Given the description of an element on the screen output the (x, y) to click on. 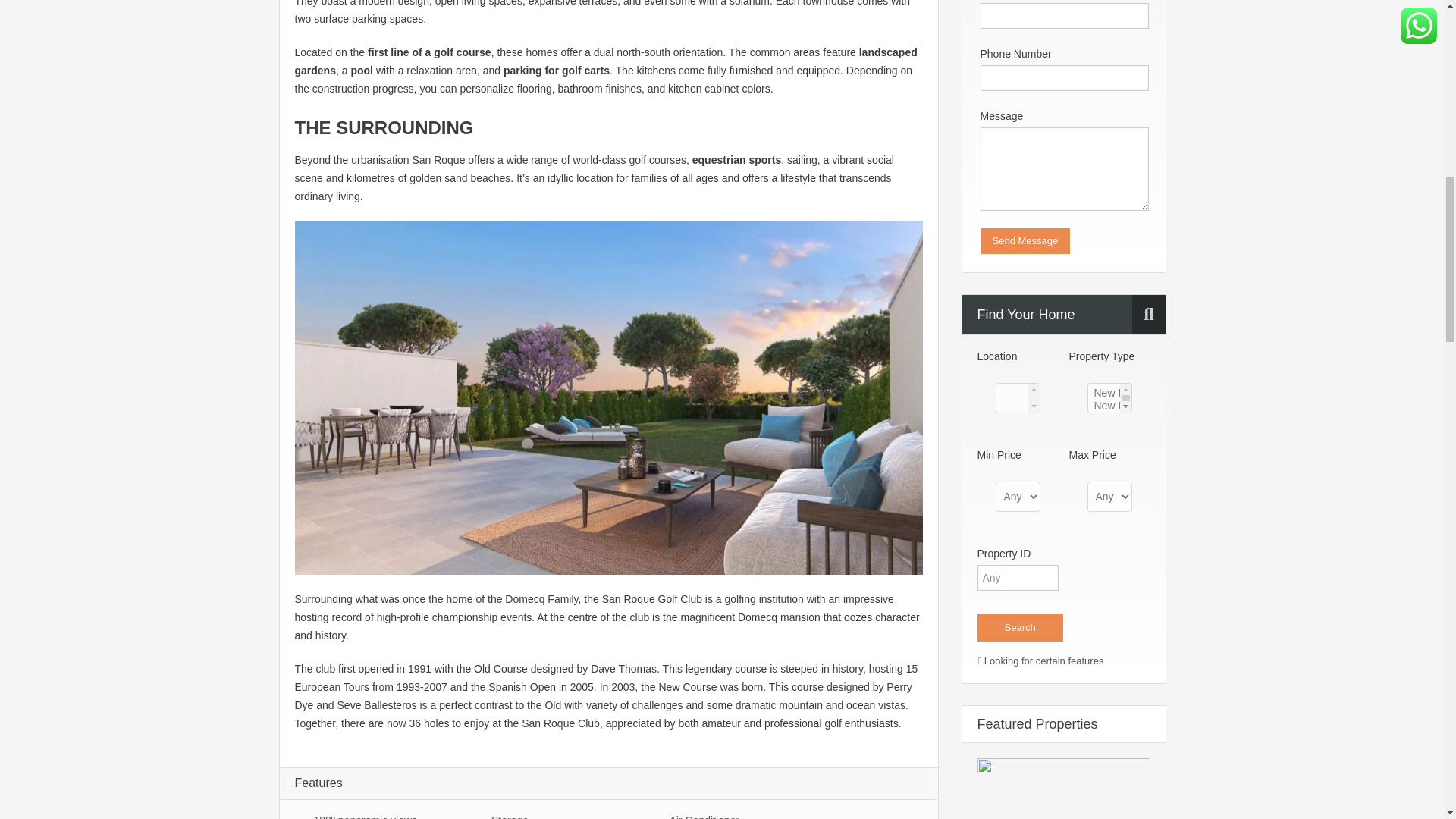
Send Message (1024, 240)
All Types (1109, 398)
Search (1019, 627)
All Locations (1016, 398)
